Given the description of an element on the screen output the (x, y) to click on. 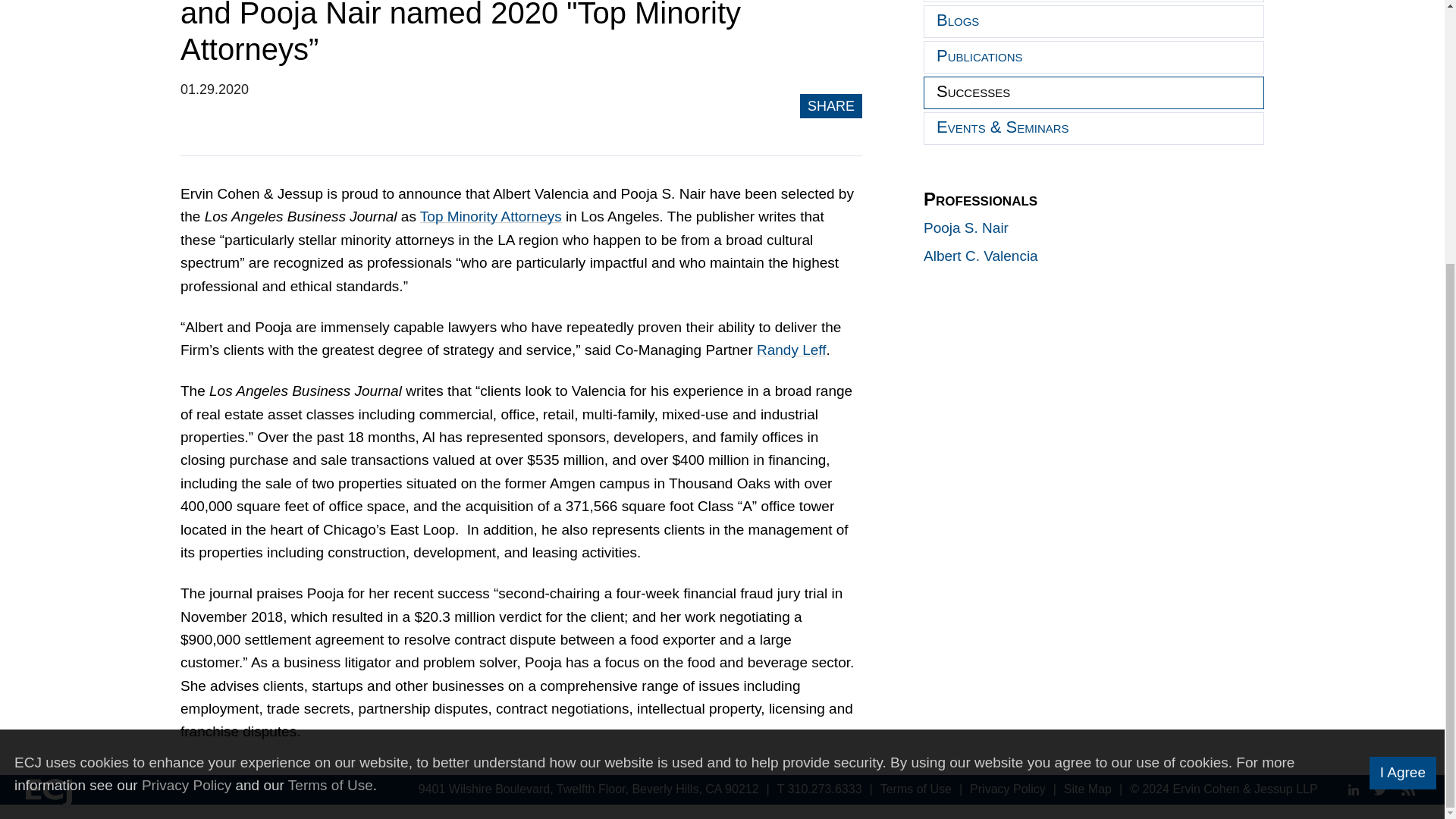
SHARE (831, 105)
Share (831, 105)
Albert C. Valencia (980, 255)
Top Minority Attorneys (491, 216)
Pooja S. Nair (966, 227)
Publications (1093, 56)
Blogs (1093, 20)
Successes (1093, 92)
Randy Leff (792, 349)
